Given the description of an element on the screen output the (x, y) to click on. 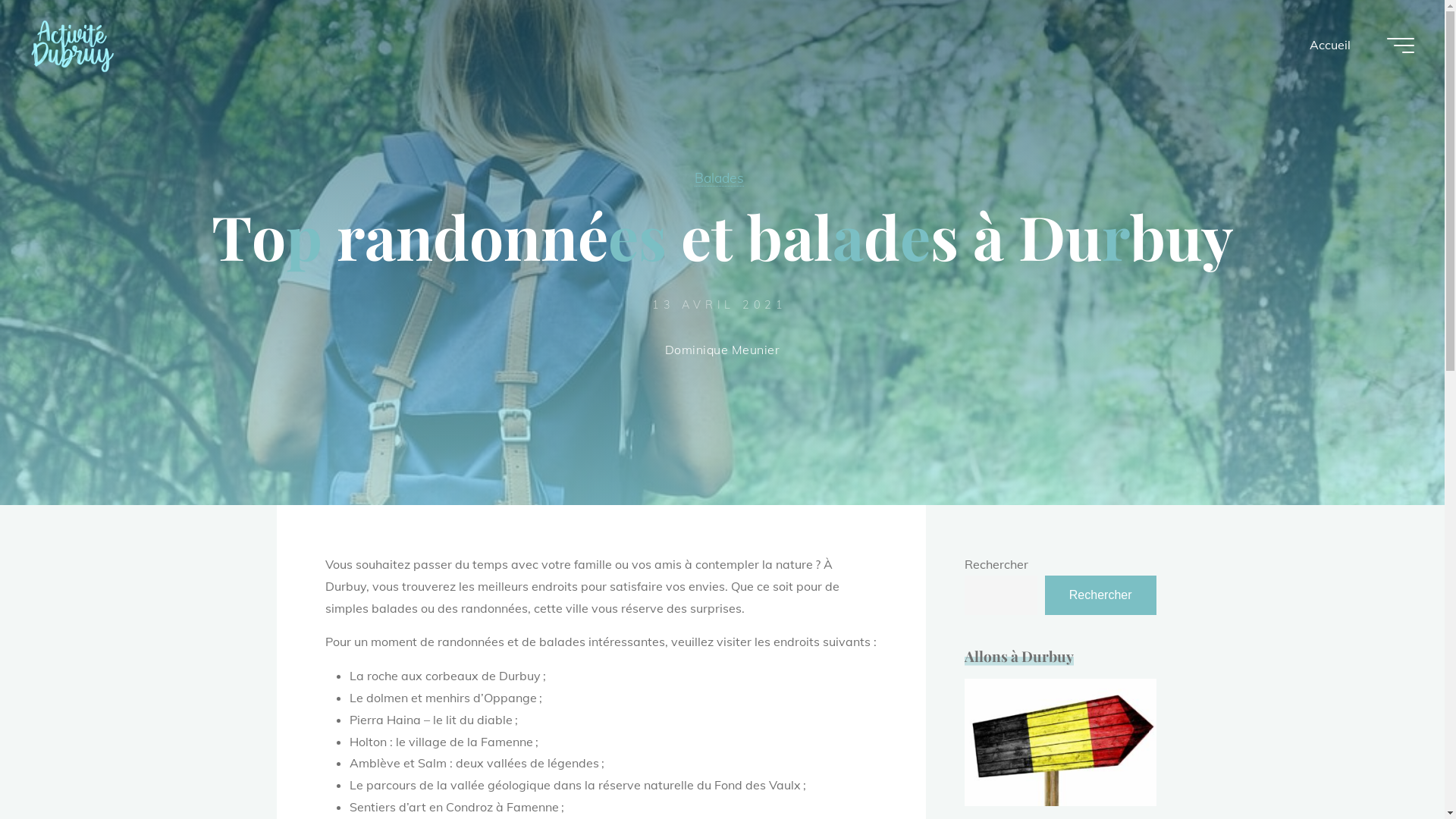
Lire la suite Element type: hover (721, 412)
Dominique Meunier Element type: text (722, 351)
Rechercher Element type: text (1100, 595)
Balades Element type: text (718, 177)
Accueil Element type: text (1329, 44)
